Given the description of an element on the screen output the (x, y) to click on. 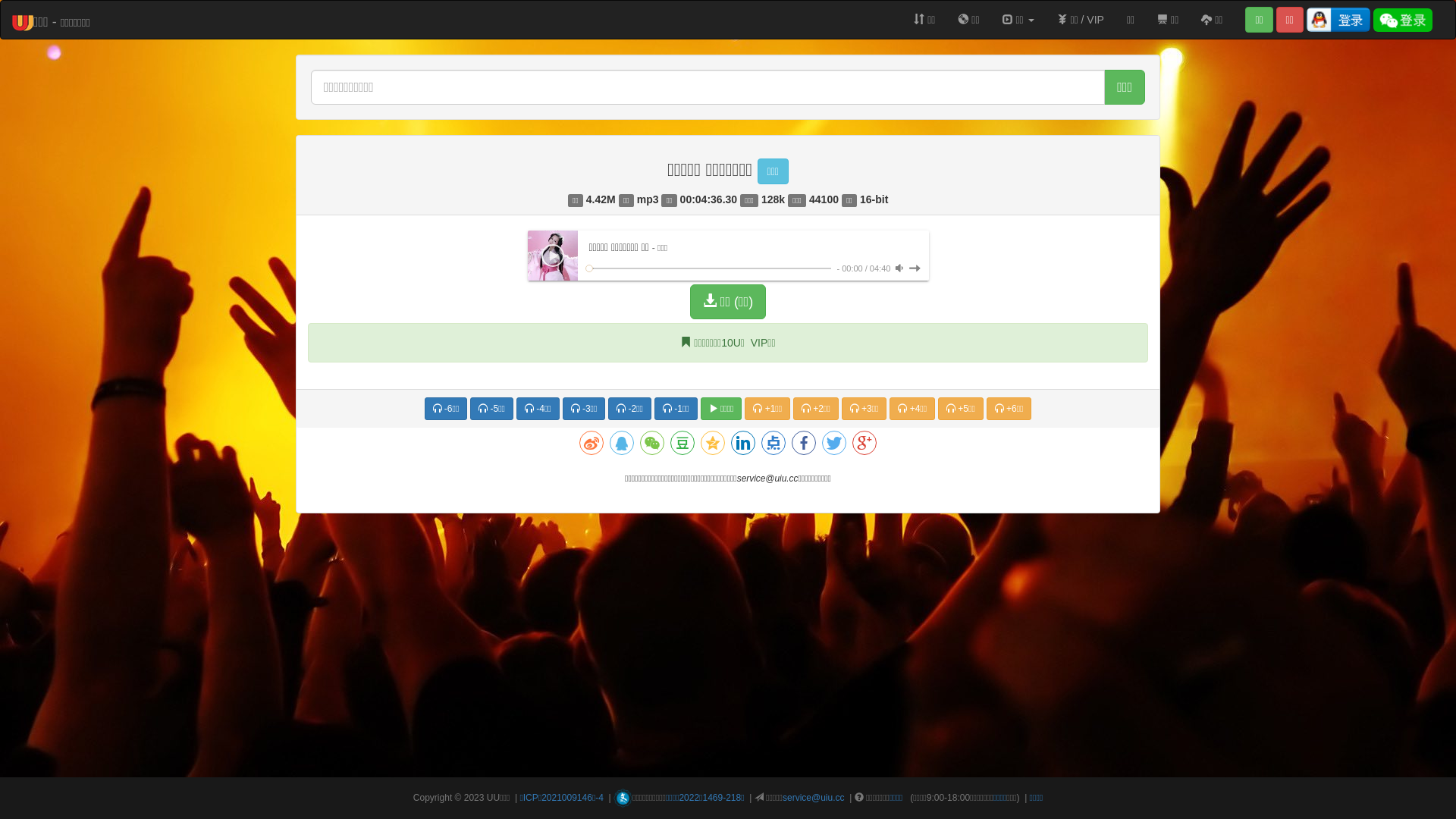
service@uiu.cc Element type: text (813, 797)
